Given the description of an element on the screen output the (x, y) to click on. 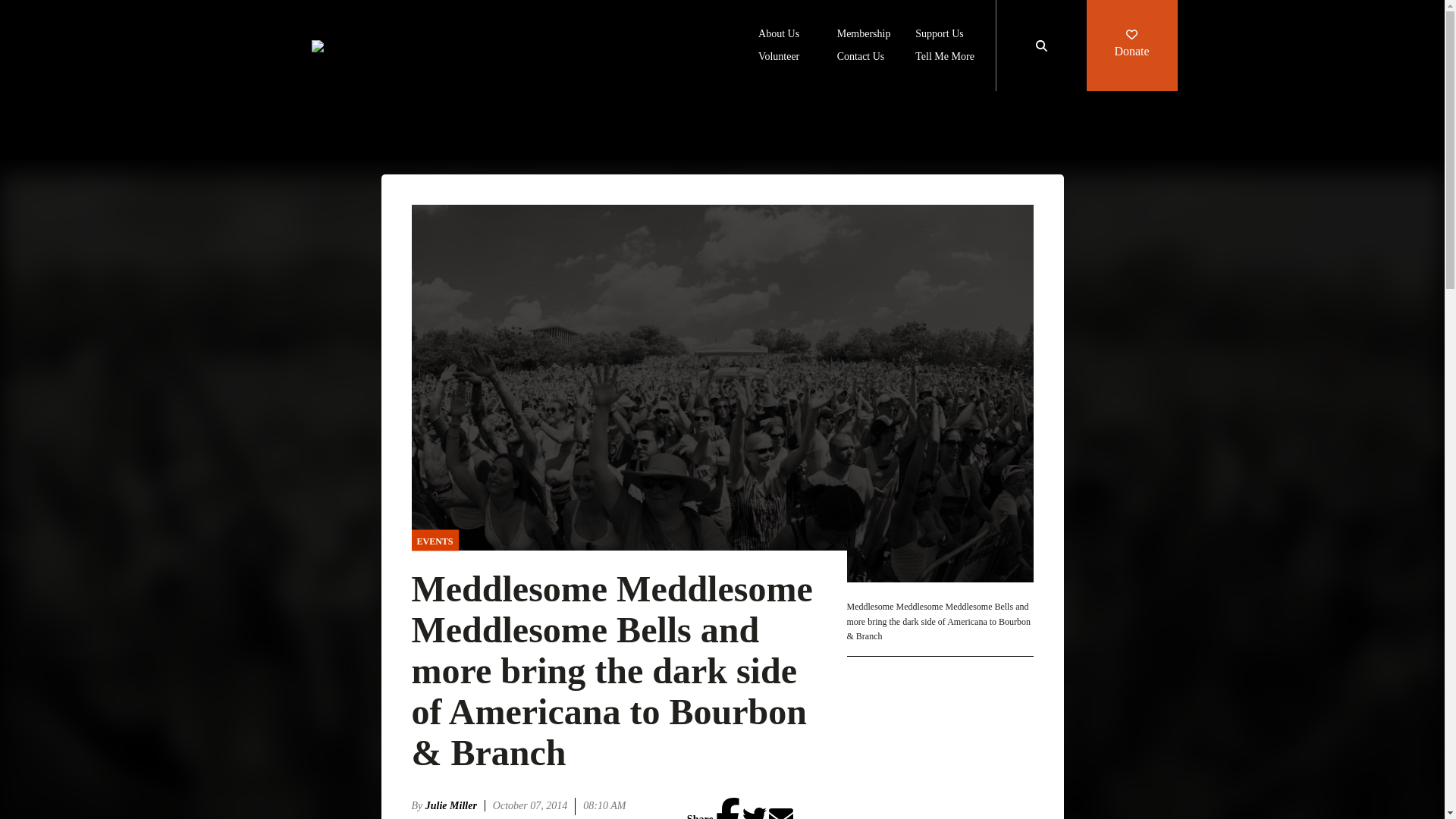
Membership (864, 35)
Support Us (938, 35)
Volunteer (778, 57)
Julie Miller (454, 805)
Contact Us (861, 57)
About Us (778, 35)
Donate (1131, 45)
Tell Me More (944, 57)
